Given the description of an element on the screen output the (x, y) to click on. 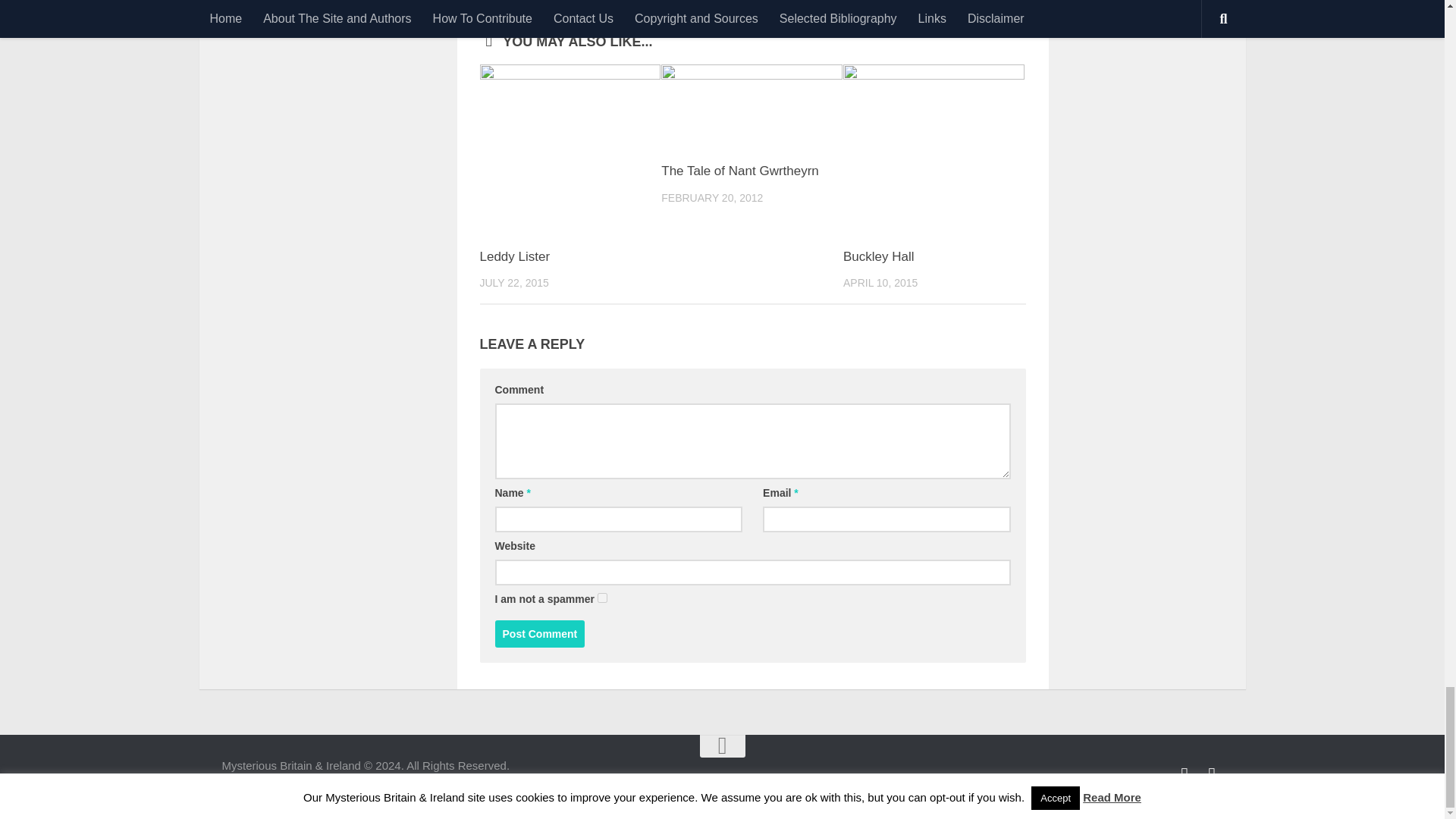
on (601, 597)
Permalink to The Tale of Nant Gwrtheyrn (739, 170)
Permalink to Buckley Hall (878, 256)
Permalink to Leddy Lister (514, 256)
Leddy Lister (514, 256)
Post Comment (540, 633)
